Given the description of an element on the screen output the (x, y) to click on. 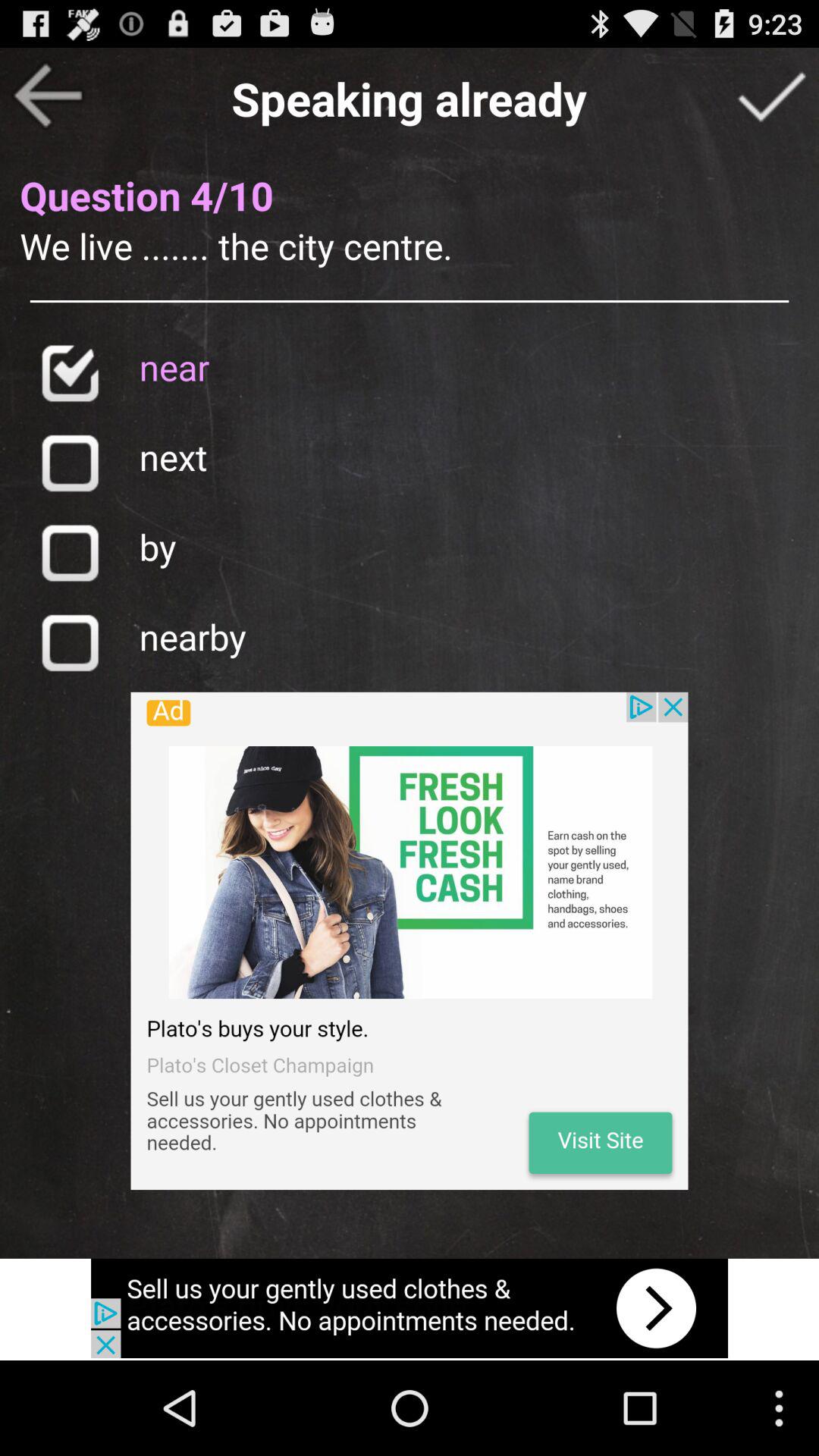
select this answer (69, 462)
